Given the description of an element on the screen output the (x, y) to click on. 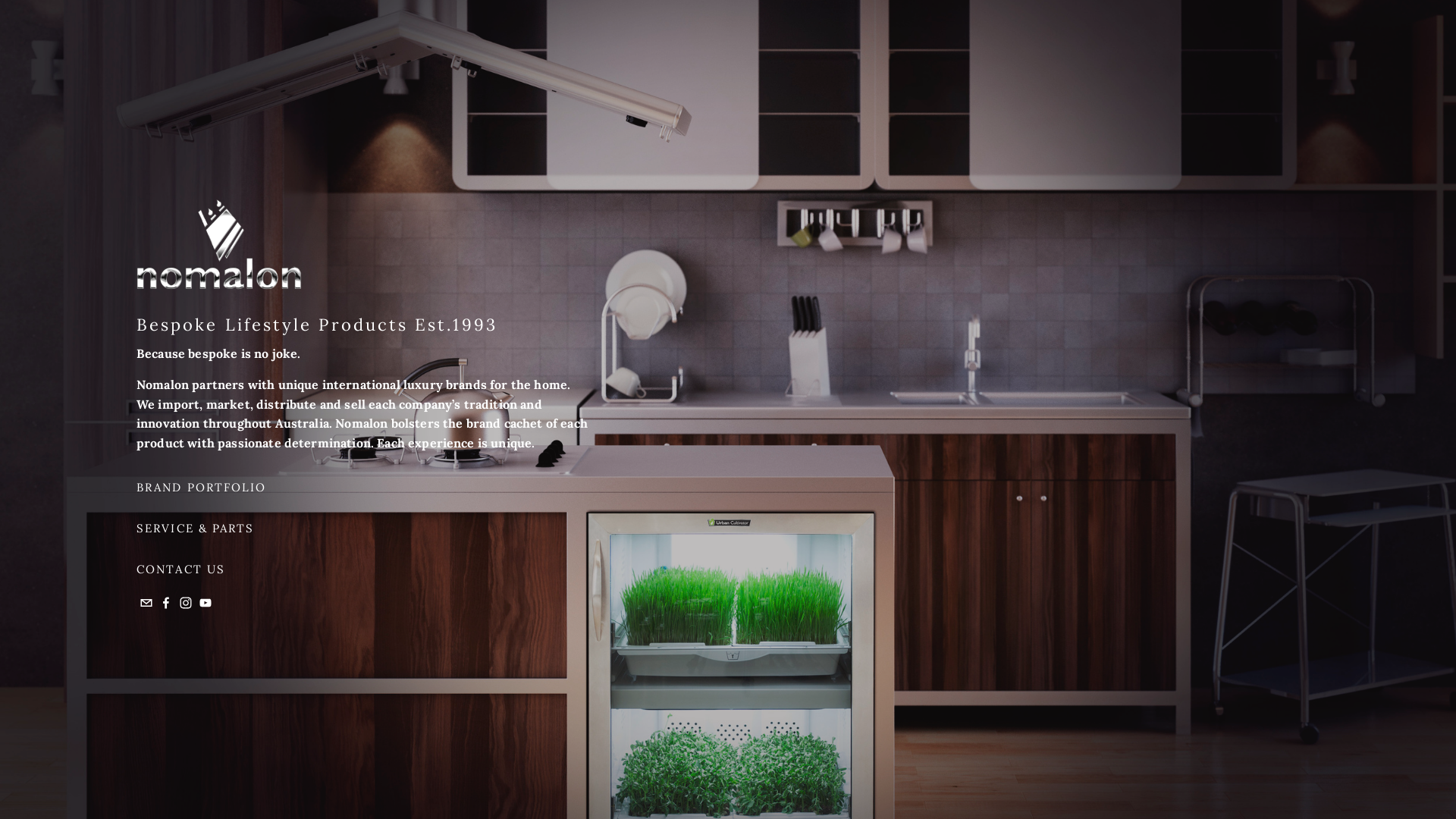
BRAND PORTFOLIO Element type: text (242, 487)
SERVICE & PARTS Element type: text (242, 527)
CONTACT US Element type: text (242, 568)
